Given the description of an element on the screen output the (x, y) to click on. 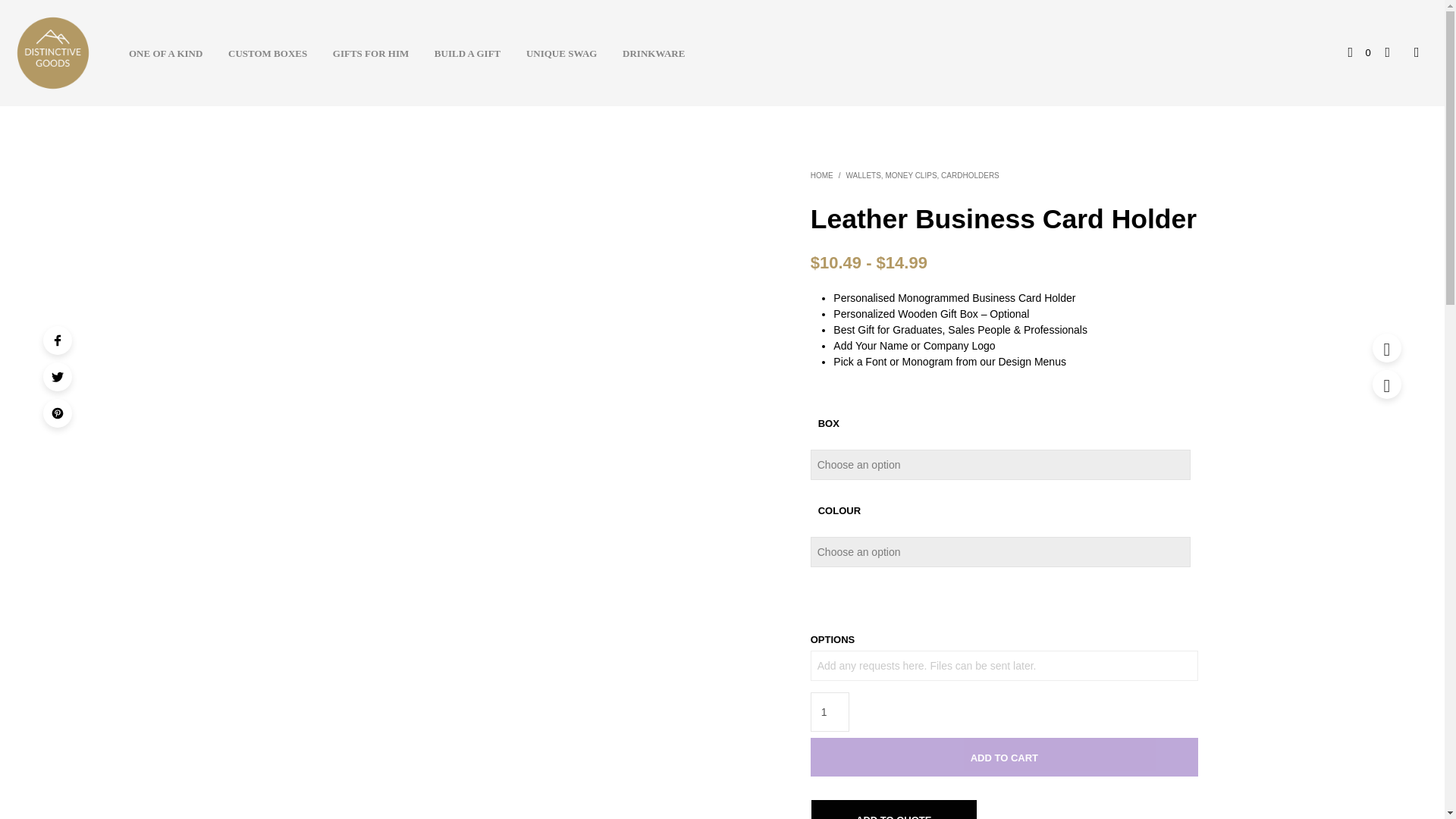
0 (1359, 52)
ADD TO QUOTE (893, 809)
WALLETS, MONEY CLIPS, CARDHOLDERS (921, 175)
ADD TO CART (1004, 756)
UNIQUE SWAG (561, 53)
BUILD A GIFT (467, 53)
CUSTOM BOXES (267, 53)
ONE OF A KIND (165, 53)
DRINKWARE (653, 53)
1 (829, 712)
